Given the description of an element on the screen output the (x, y) to click on. 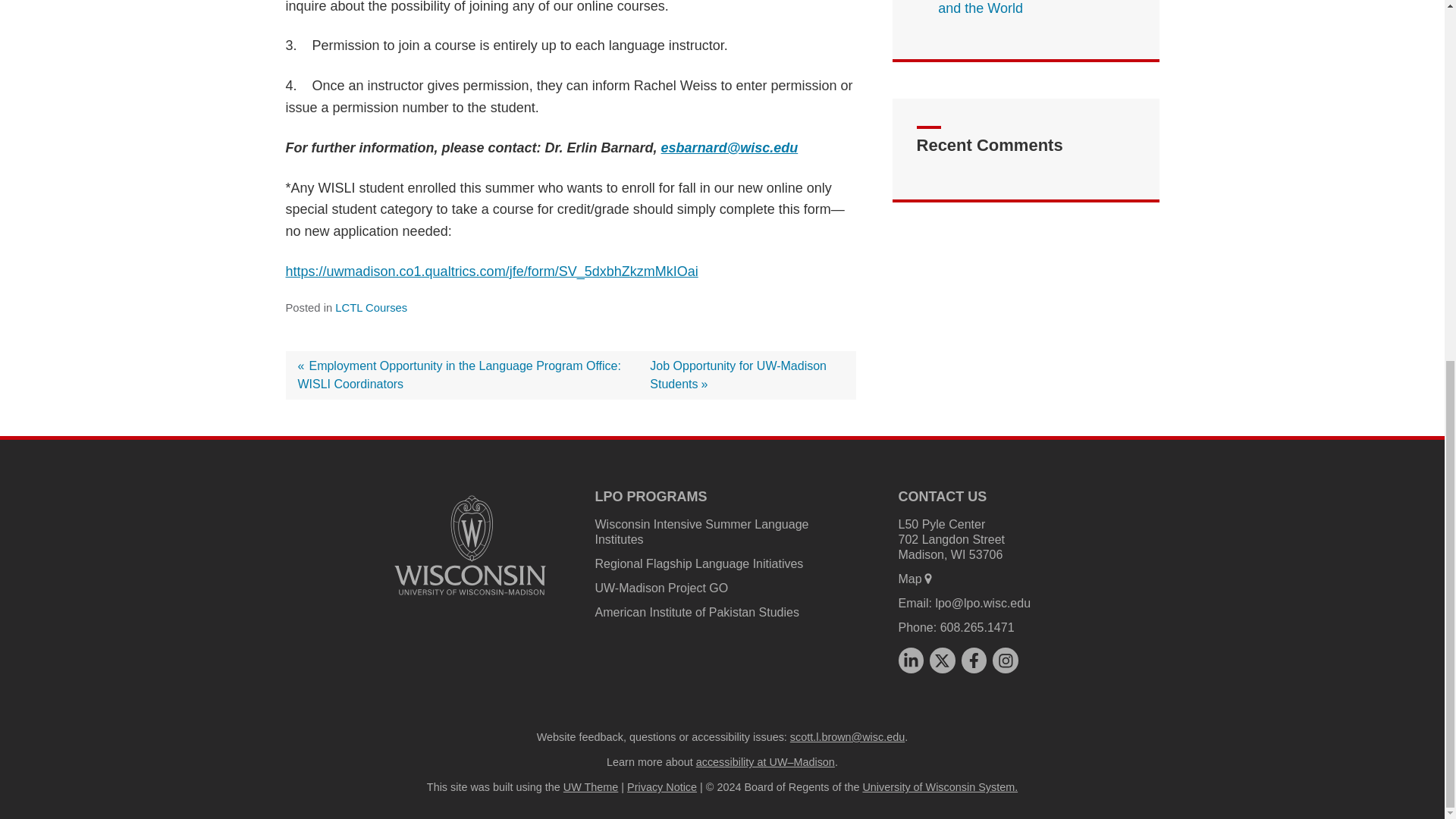
Regional Flagship Language Initiatives (698, 563)
LCTL Courses (738, 374)
facebook (370, 307)
608.265.1471 (973, 660)
Map map marker (977, 626)
Wisconsin Intensive Summer Language Institutes (915, 578)
x twitter (701, 531)
Global Day 2024: Wisconsin and the World (941, 660)
